Given the description of an element on the screen output the (x, y) to click on. 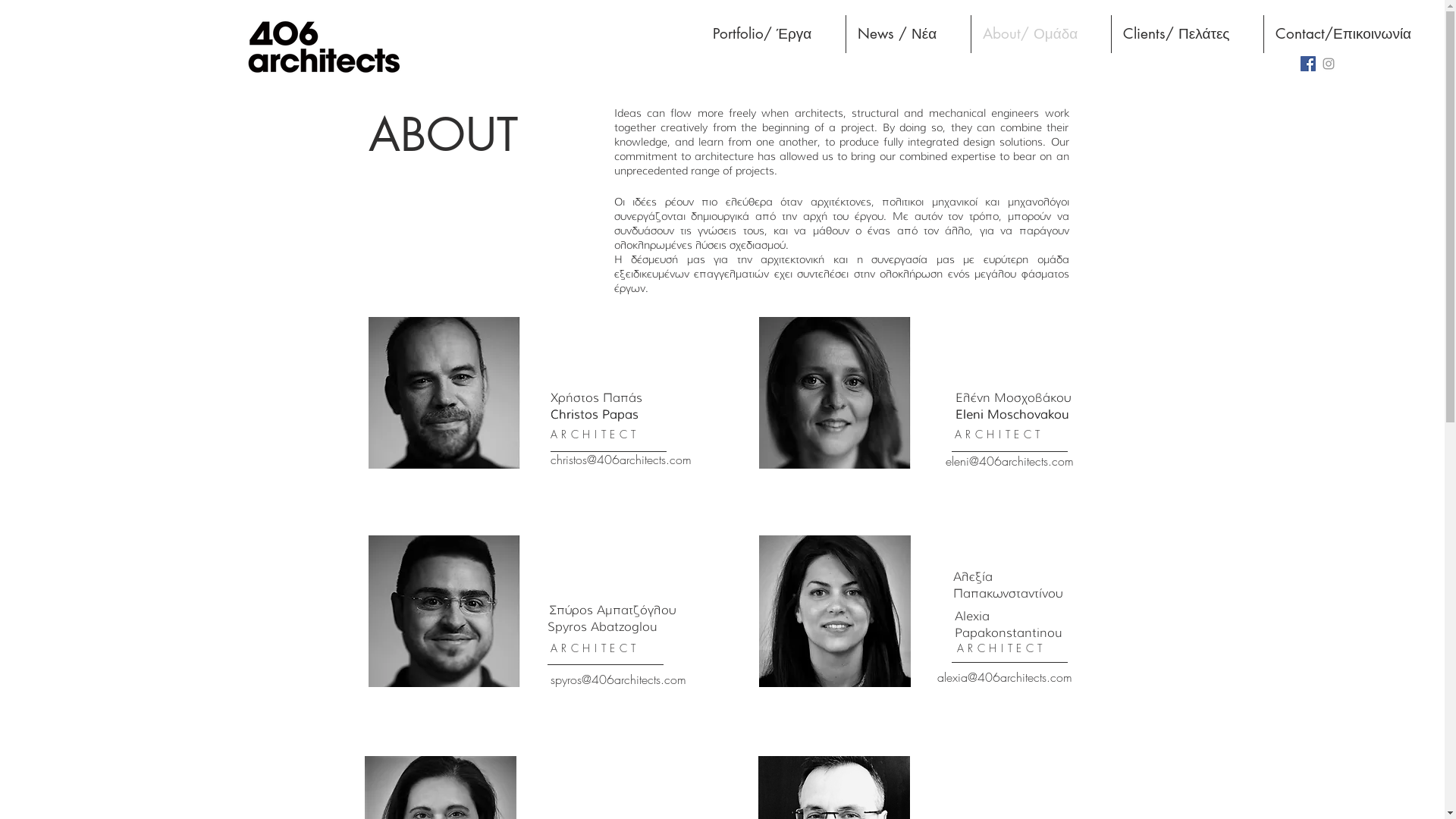
alexia@406architects.com Element type: text (1004, 676)
eleni@406architects.com Element type: text (1008, 460)
spyros@406architects.com Element type: text (618, 679)
christos@406architects.com Element type: text (620, 459)
